Given the description of an element on the screen output the (x, y) to click on. 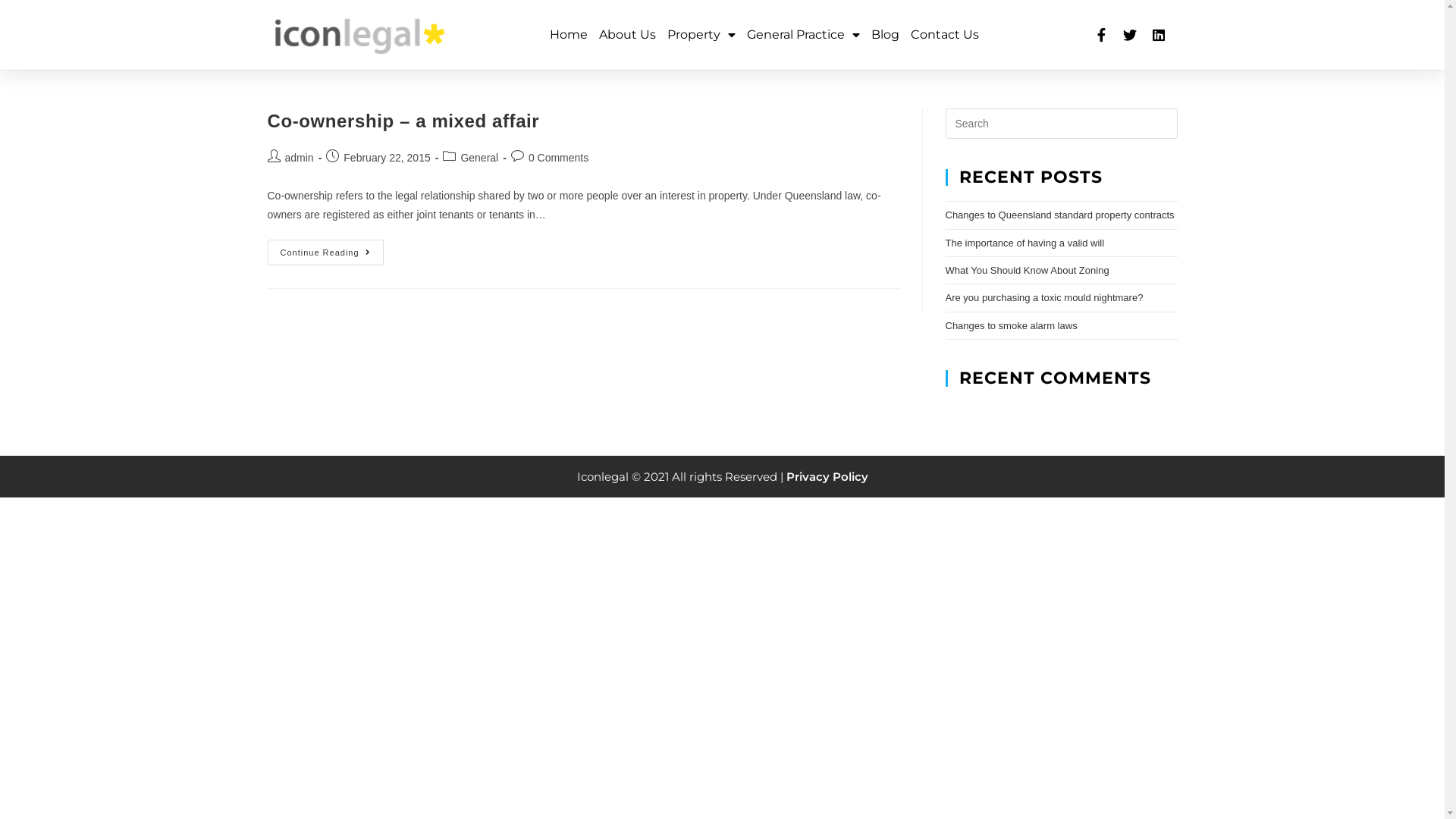
Changes to smoke alarm laws Element type: text (1010, 325)
General Practice Element type: text (802, 34)
Continue Reading Element type: text (324, 252)
Are you purchasing a toxic mould nightmare? Element type: text (1043, 297)
Property Element type: text (701, 34)
Home Element type: text (568, 34)
0 Comments Element type: text (558, 157)
General Element type: text (479, 157)
admin Element type: text (299, 157)
Changes to Queensland standard property contracts Element type: text (1058, 214)
About Us Element type: text (627, 34)
What You Should Know About Zoning Element type: text (1026, 270)
Contact Us Element type: text (944, 34)
Privacy Policy Element type: text (826, 476)
Blog Element type: text (885, 34)
The importance of having a valid will Element type: text (1024, 242)
